Given the description of an element on the screen output the (x, y) to click on. 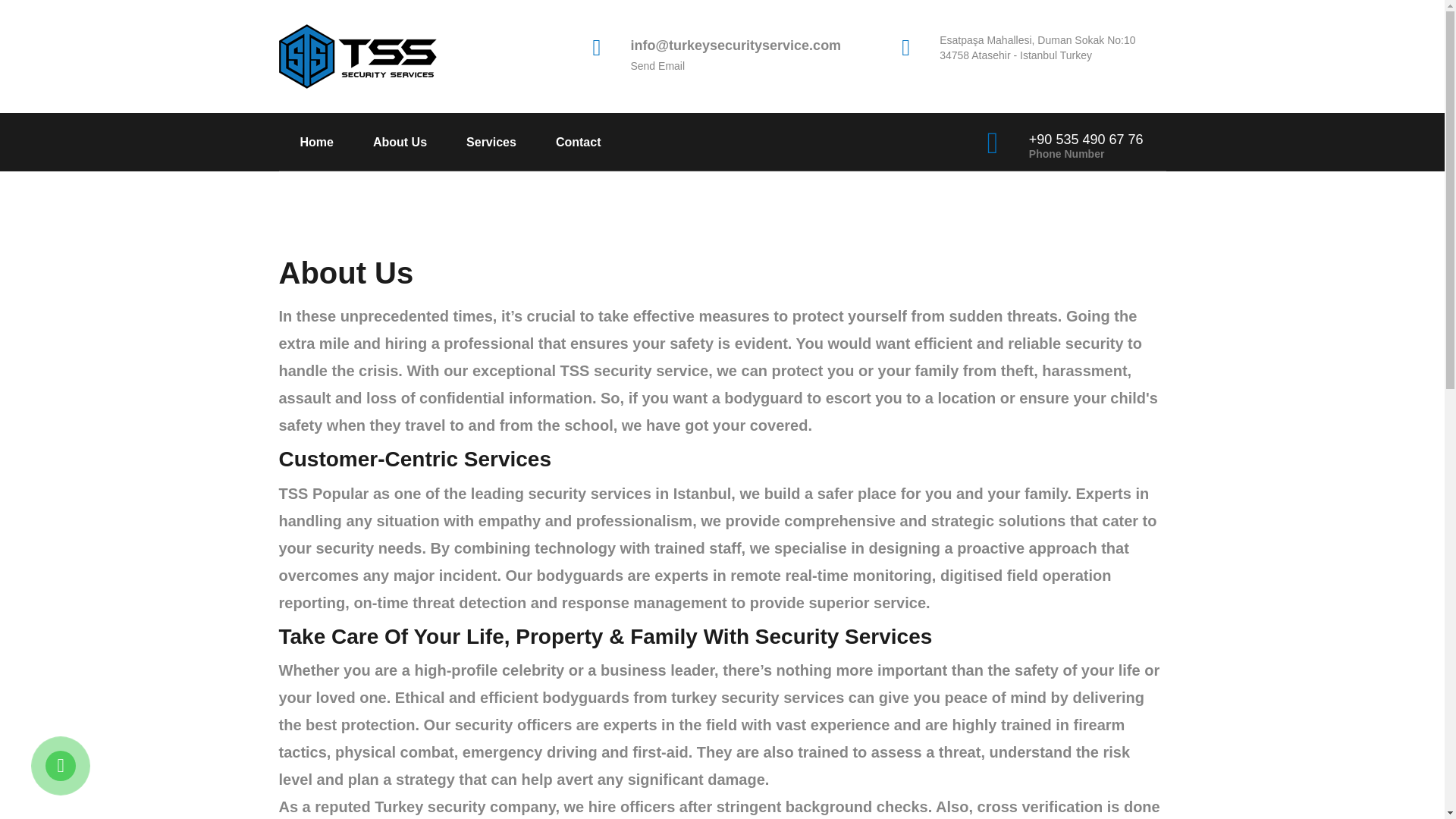
Contact (567, 142)
About Us (389, 142)
Home (306, 142)
